Given the description of an element on the screen output the (x, y) to click on. 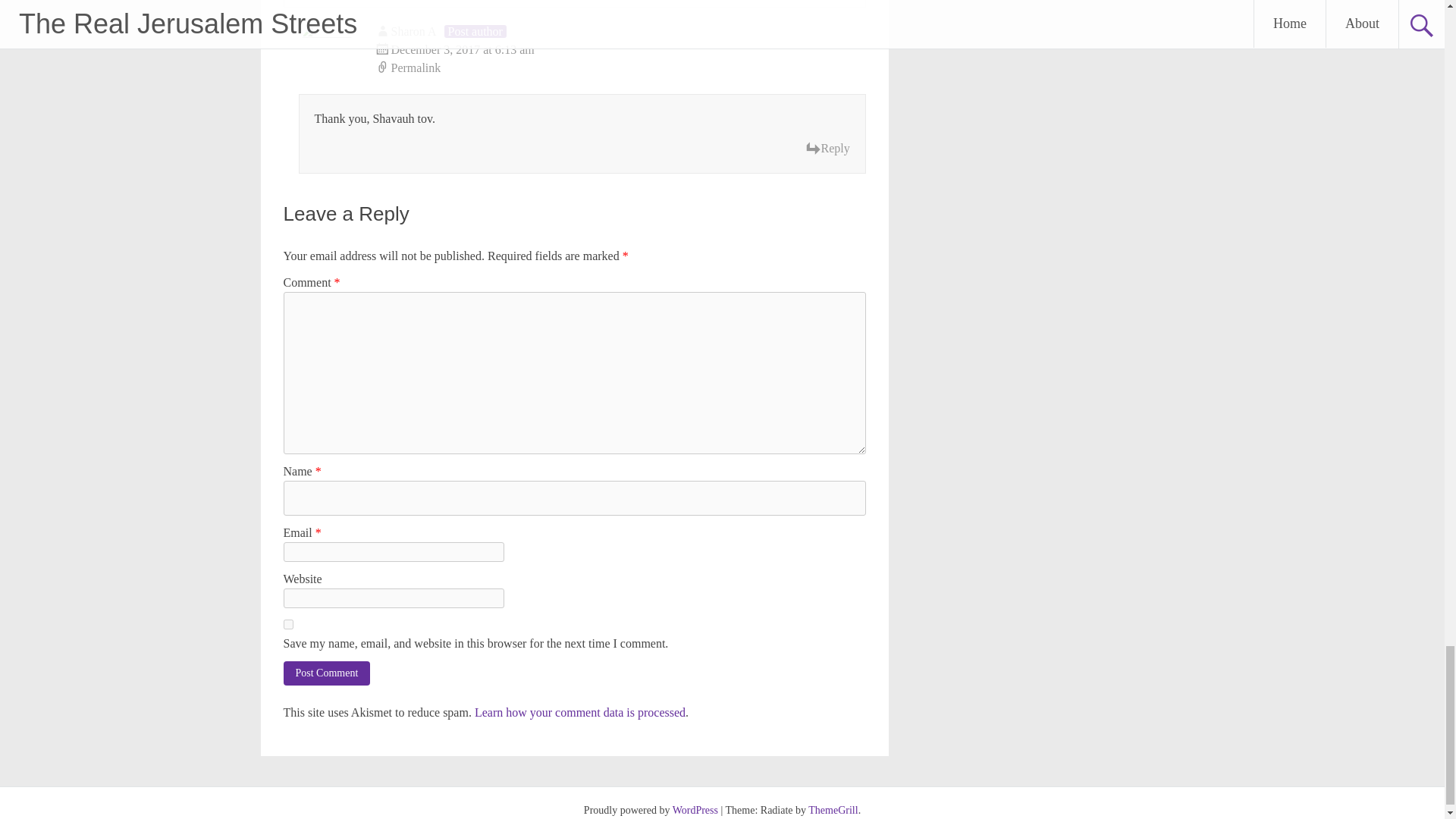
Learn how your comment data is processed (579, 712)
yes (288, 624)
Post Comment (327, 672)
Post Comment (327, 672)
Reply (827, 148)
Permalink (620, 67)
